Given the description of an element on the screen output the (x, y) to click on. 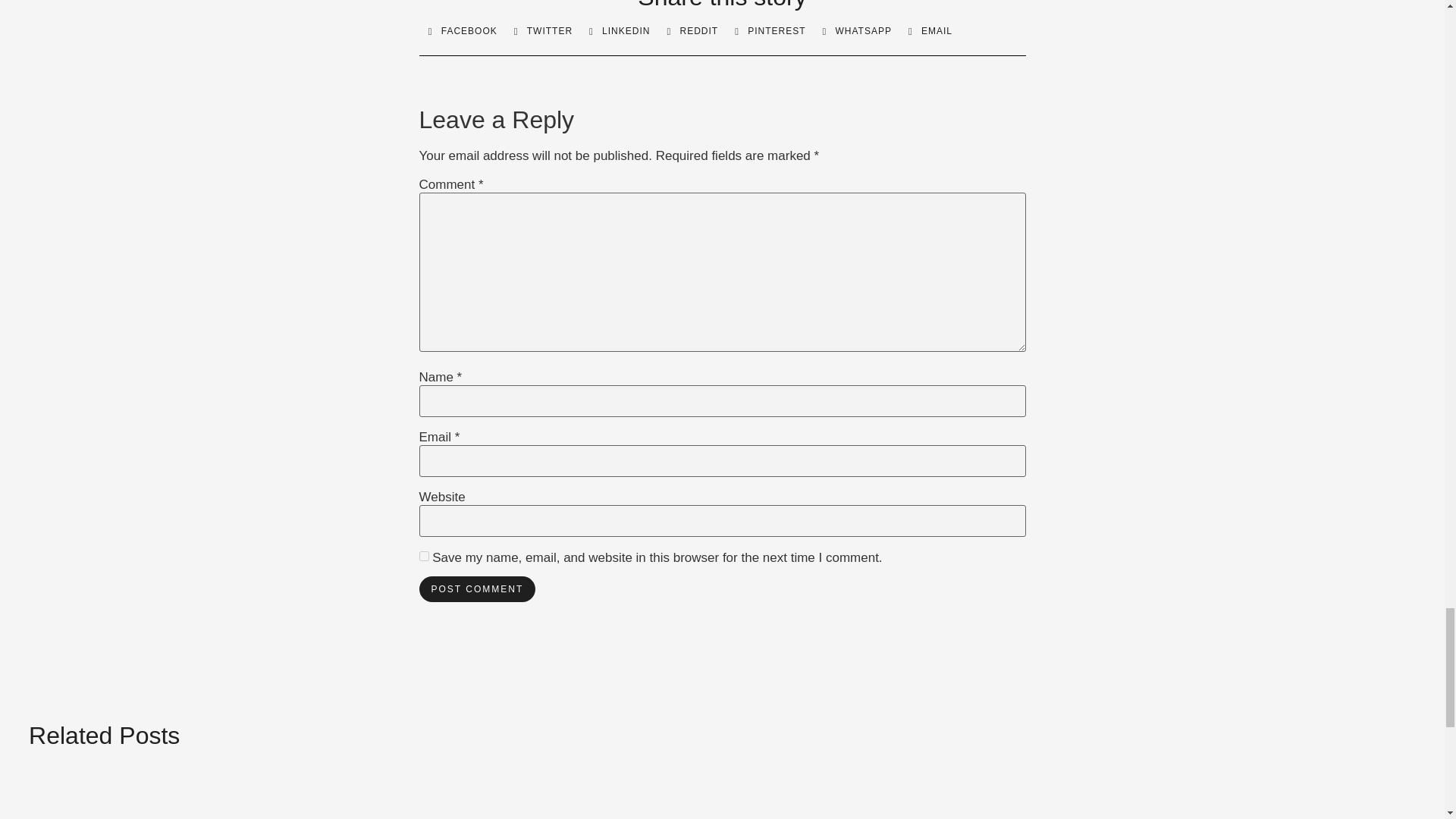
yes (423, 556)
Post Comment (477, 588)
